Given the description of an element on the screen output the (x, y) to click on. 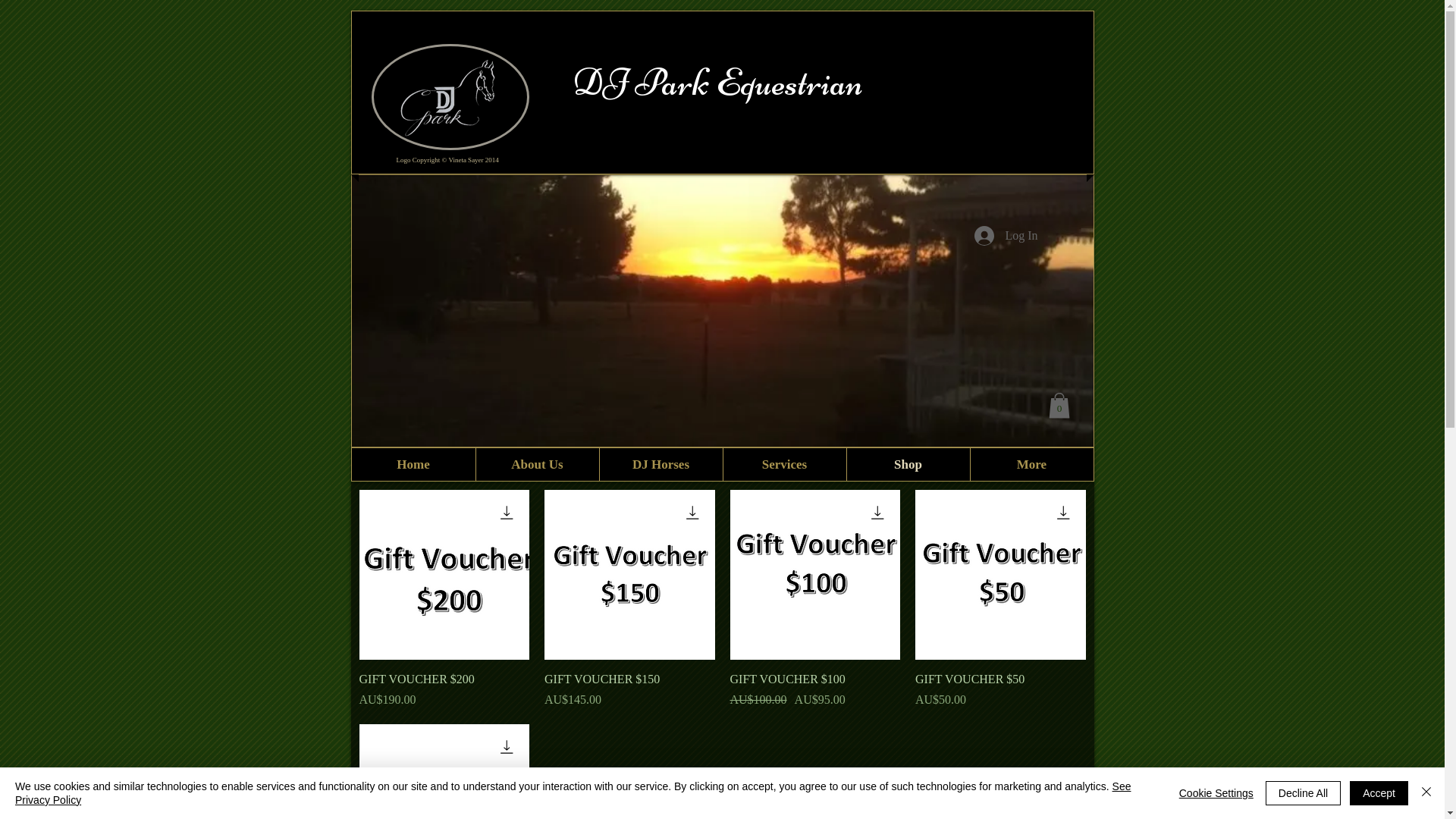
Home Element type: text (413, 464)
0 Element type: text (1058, 404)
GIFT VOUCHER $50
Price
AU$50.00 Element type: text (1000, 690)
DJ Horses Element type: text (660, 464)
Log In Element type: text (1005, 235)
GIFT VOUCHER $200
Price
AU$190.00 Element type: text (444, 690)
Services Element type: text (783, 464)
About Us Element type: text (536, 464)
GIFT VOUCHER $150
Price
AU$145.00 Element type: text (629, 690)
Shop Element type: text (907, 464)
